Given the description of an element on the screen output the (x, y) to click on. 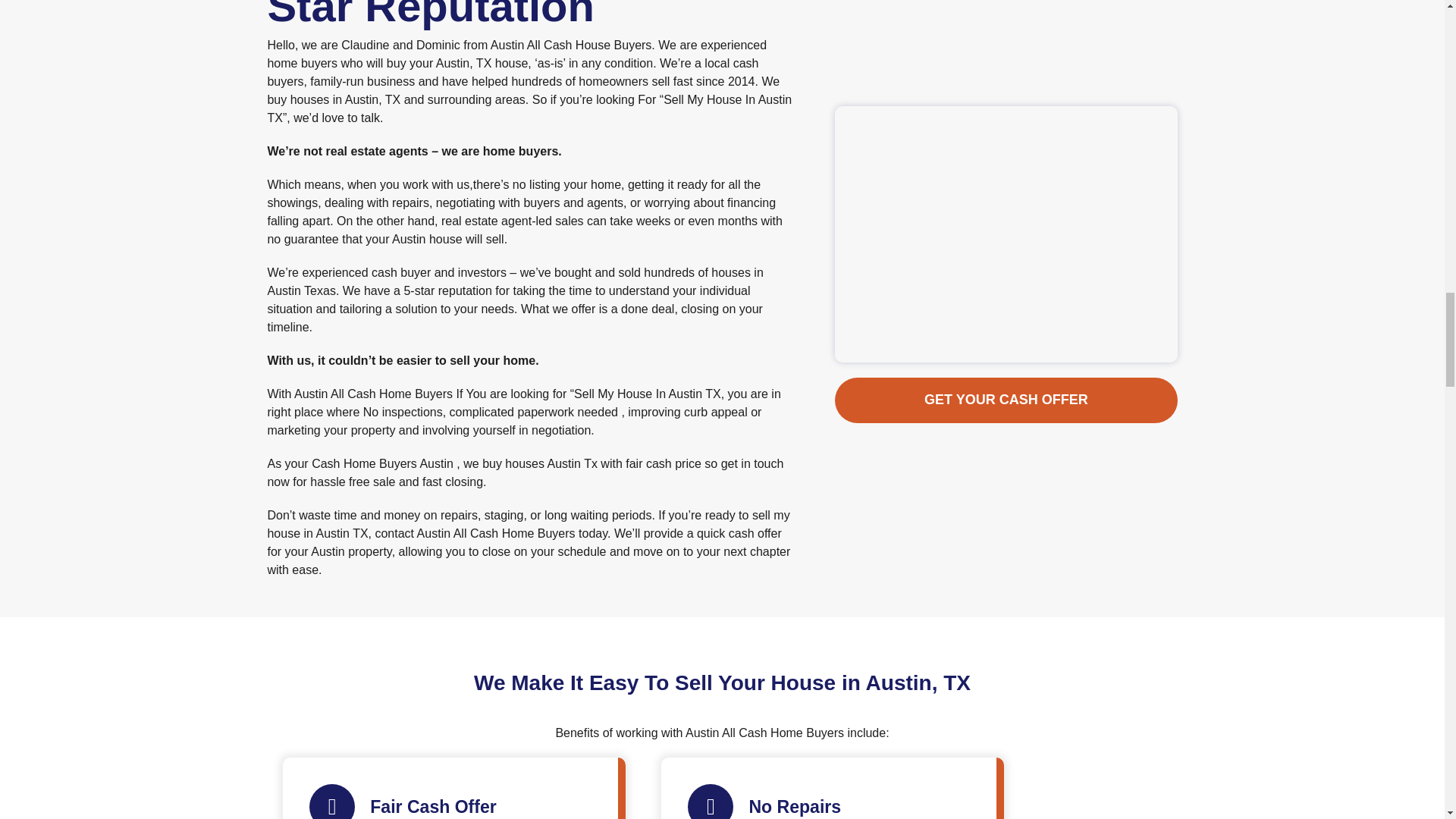
you work with us (424, 184)
Sell My House In Austin TX (529, 108)
We buy houses in Austin, TX (522, 90)
cash-home-buyers-austin (1005, 65)
GET YOUR CASH OFFER (1005, 168)
